Given the description of an element on the screen output the (x, y) to click on. 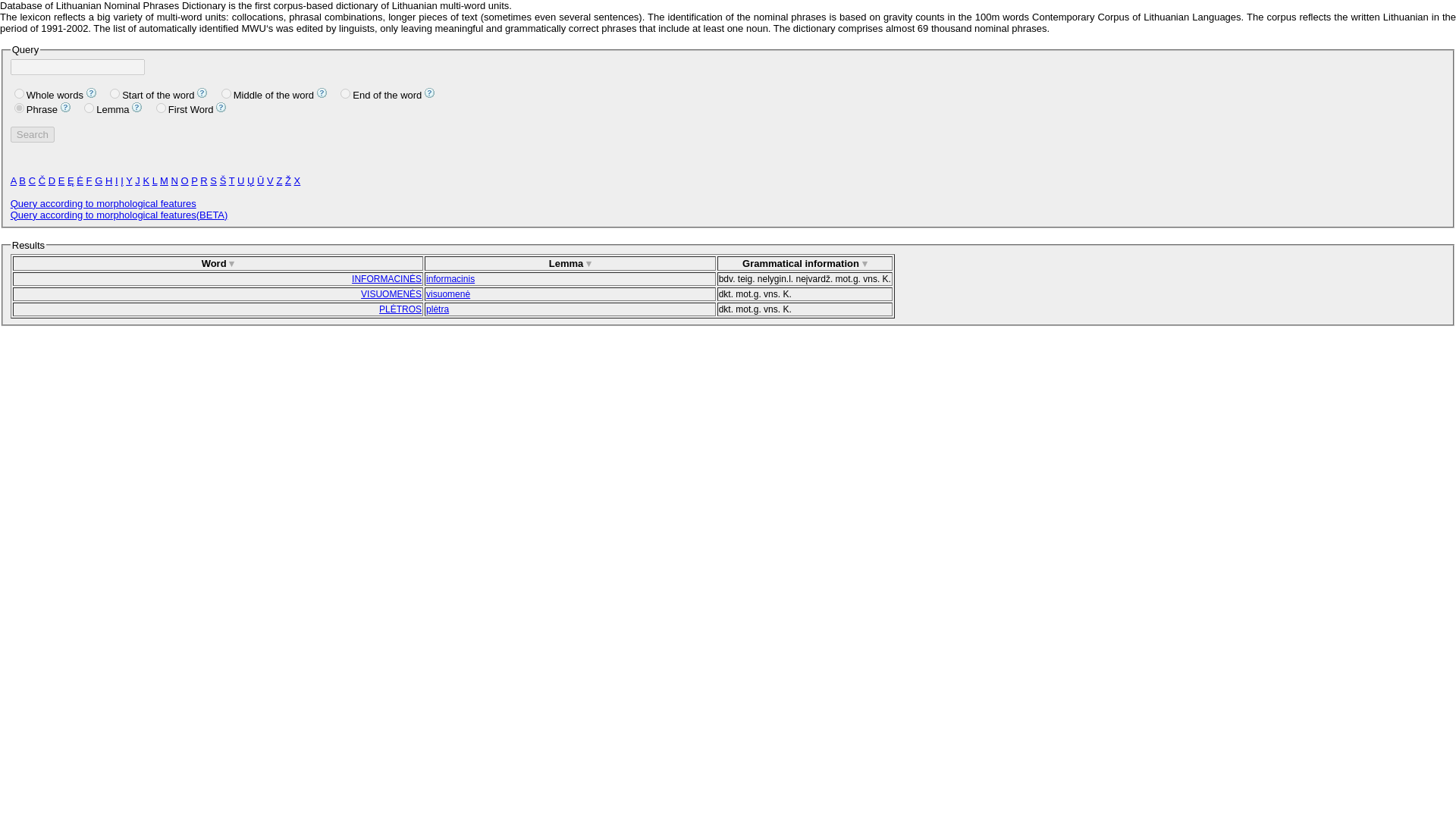
Query according to morphological features (103, 203)
multi (19, 108)
Search (32, 134)
informacinis (450, 278)
lema (89, 108)
pirm (160, 108)
Search (32, 134)
